Given the description of an element on the screen output the (x, y) to click on. 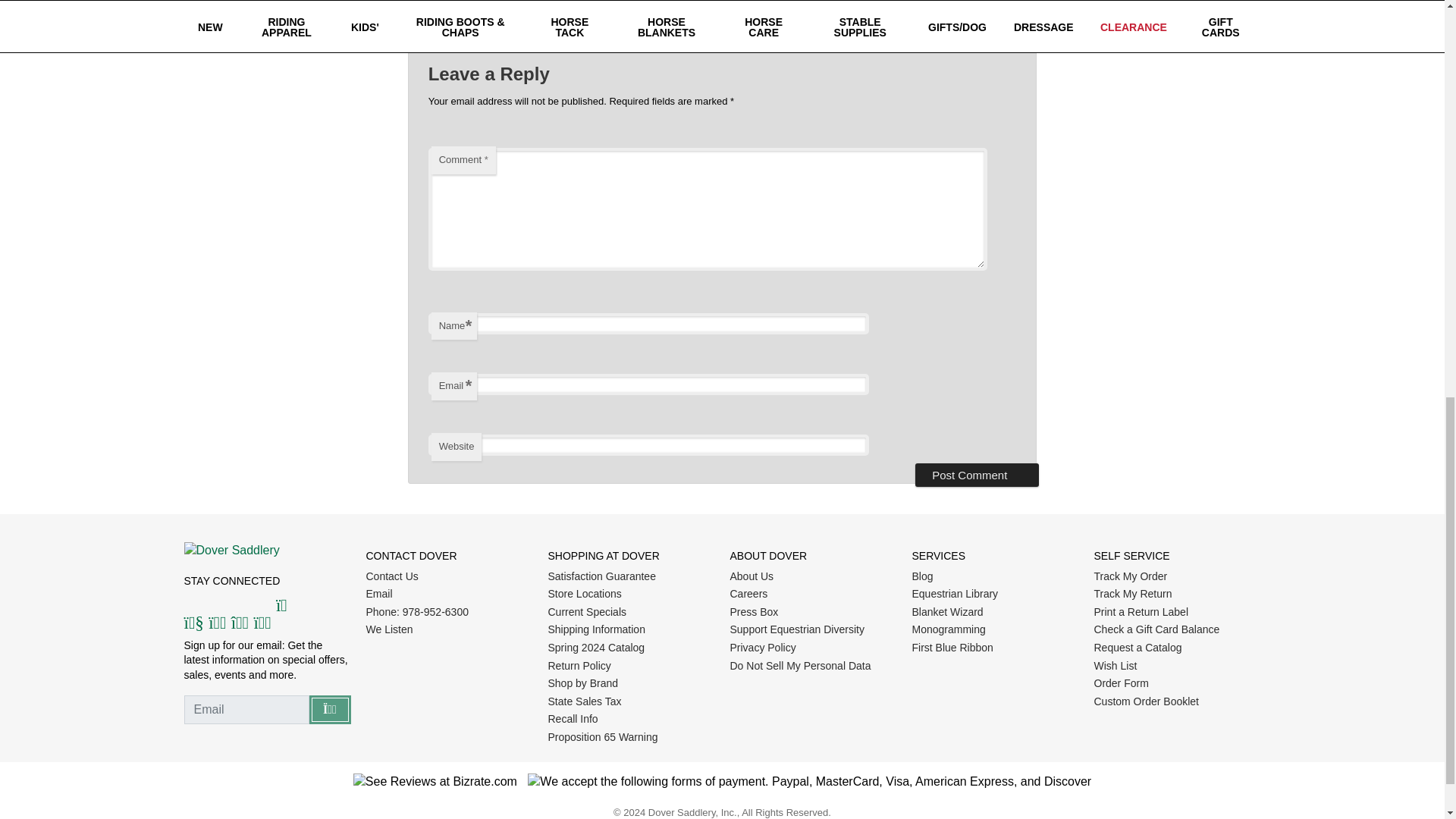
Permalink to The Run Down on Thrush (767, 15)
Post Comment (977, 474)
